Given the description of an element on the screen output the (x, y) to click on. 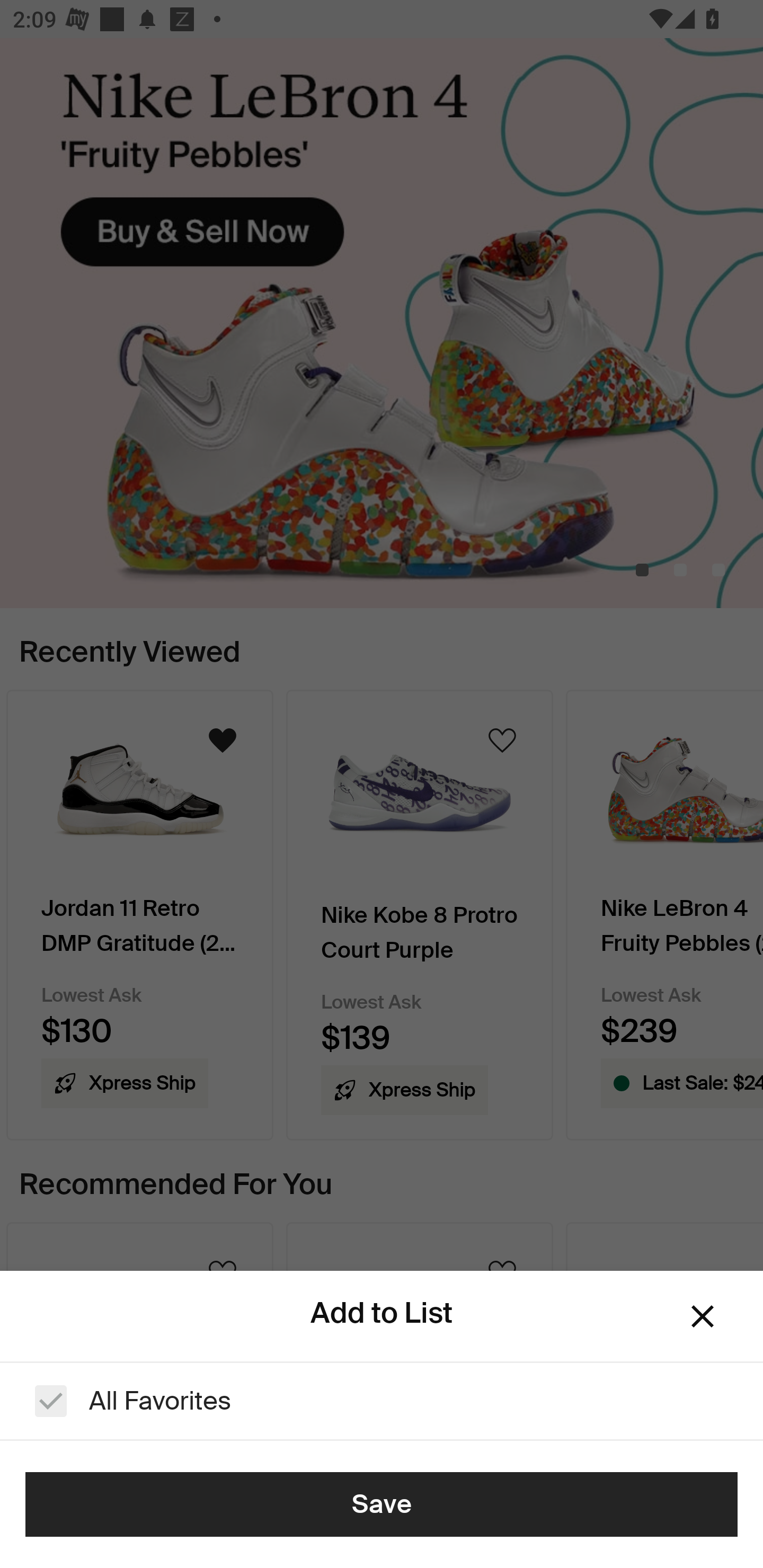
Dismiss (702, 1315)
All Favorites (381, 1400)
Save (381, 1504)
